Given the description of an element on the screen output the (x, y) to click on. 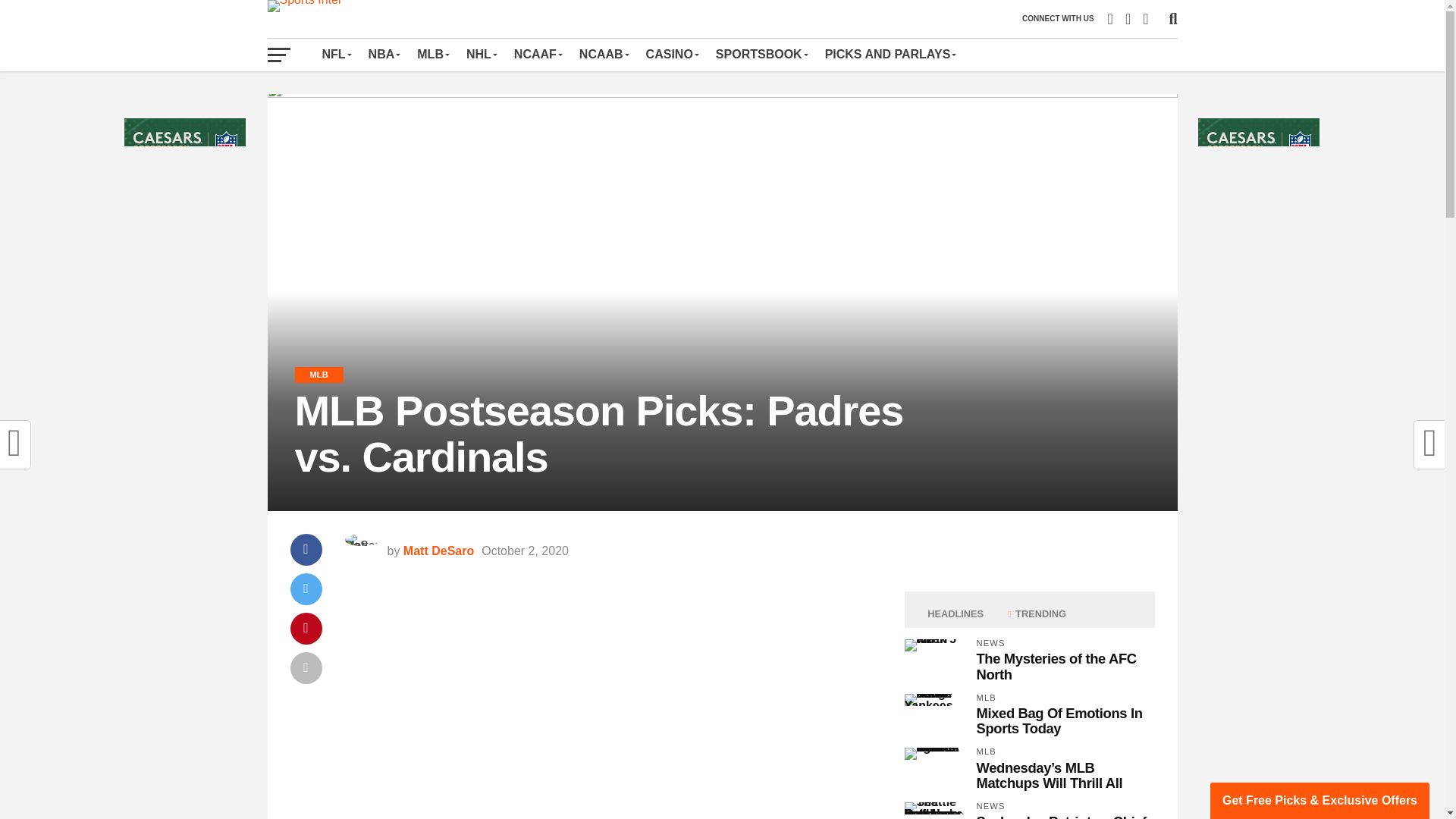
Posts by Matt DeSaro (438, 550)
